Given the description of an element on the screen output the (x, y) to click on. 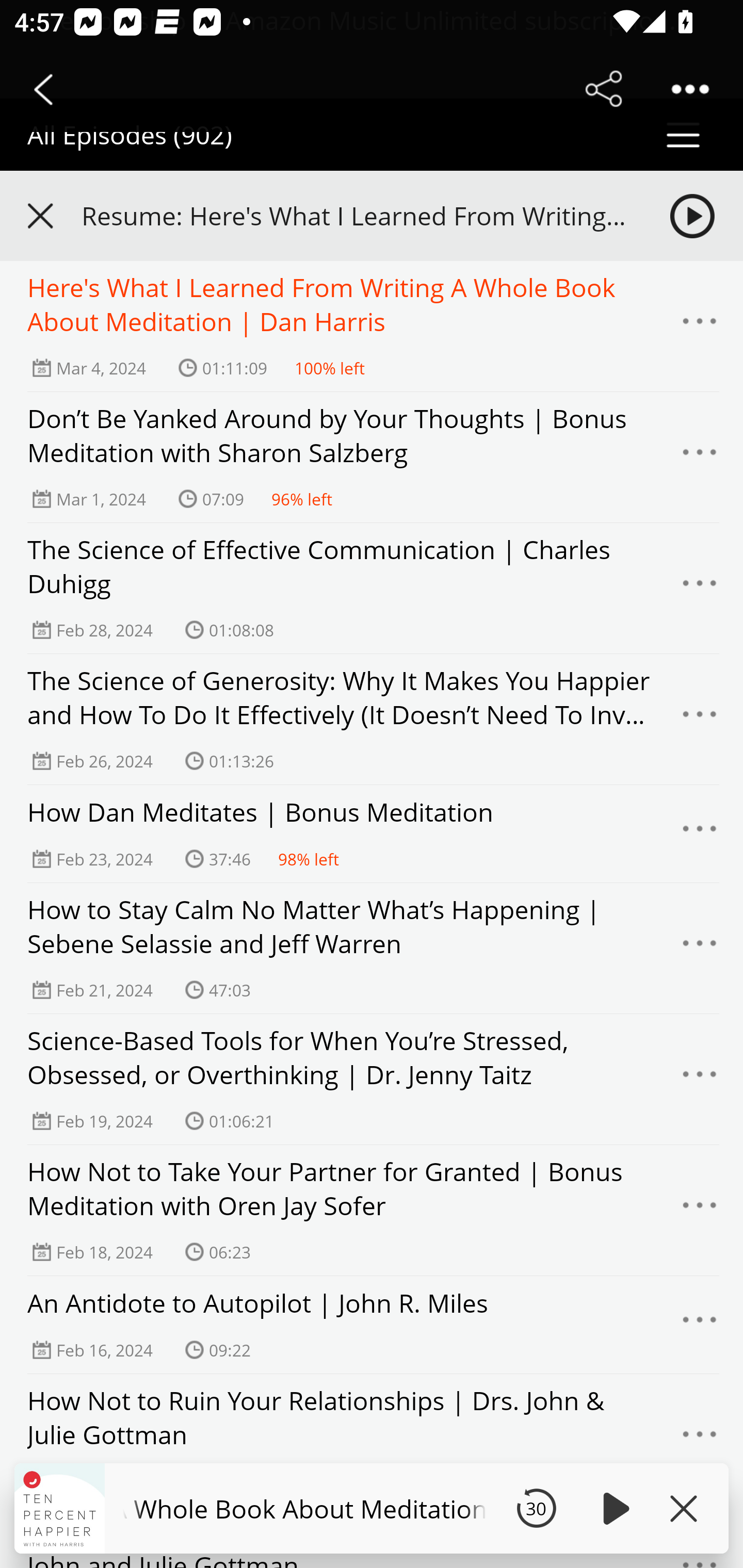
Back (43, 88)
Menu (699, 326)
Menu (699, 456)
Menu (699, 588)
Menu (699, 719)
Menu (699, 834)
Menu (699, 948)
Menu (699, 1079)
Menu (699, 1210)
Menu (699, 1324)
Menu (699, 1439)
Play (613, 1507)
30 Seek Backward (536, 1508)
